Given the description of an element on the screen output the (x, y) to click on. 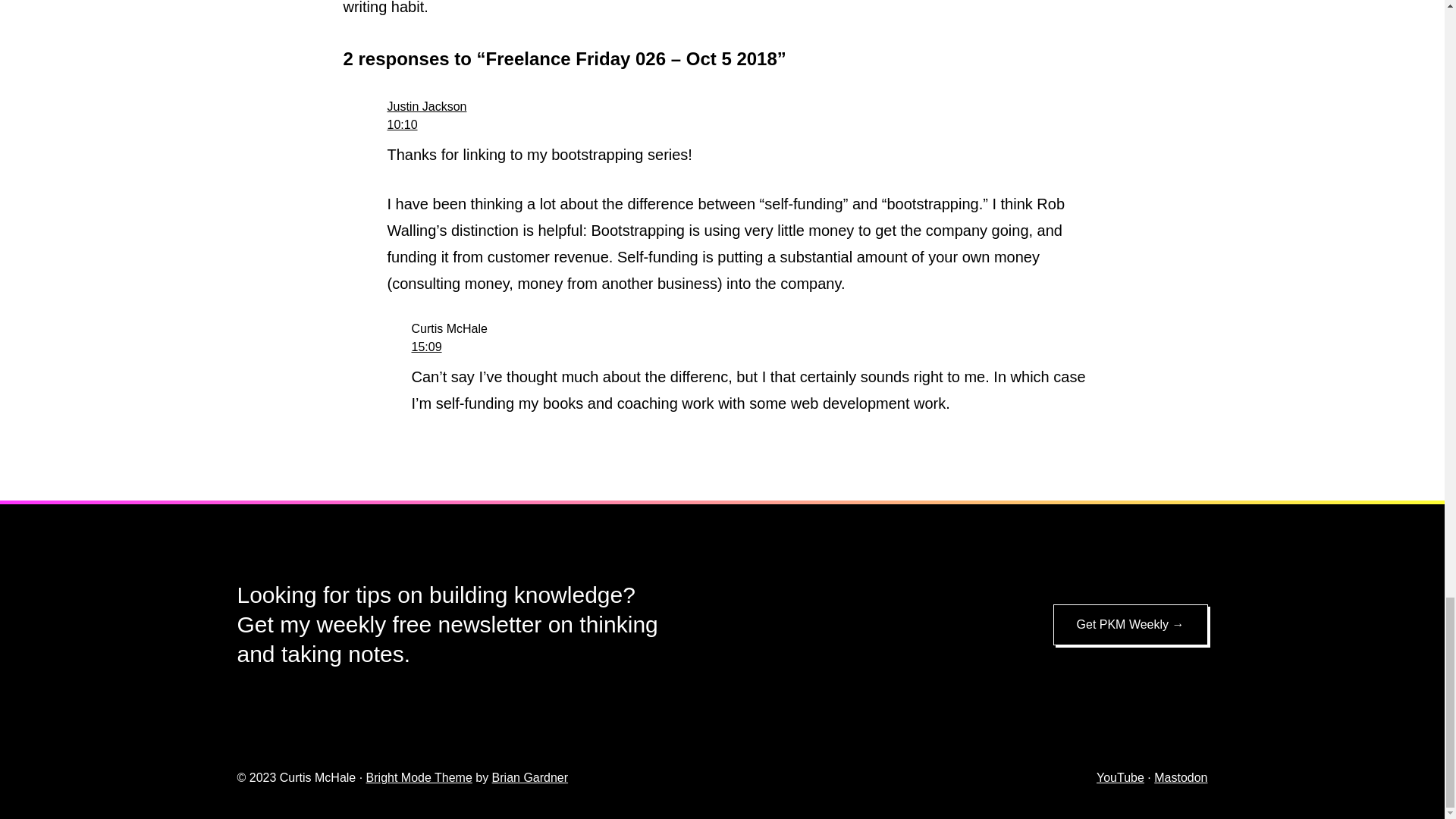
15:09 (425, 346)
YouTube (1120, 777)
Brian Gardner (530, 777)
Justin Jackson (426, 106)
Mastodon (1180, 777)
Bright Mode Theme (418, 777)
10:10 (401, 124)
